Given the description of an element on the screen output the (x, y) to click on. 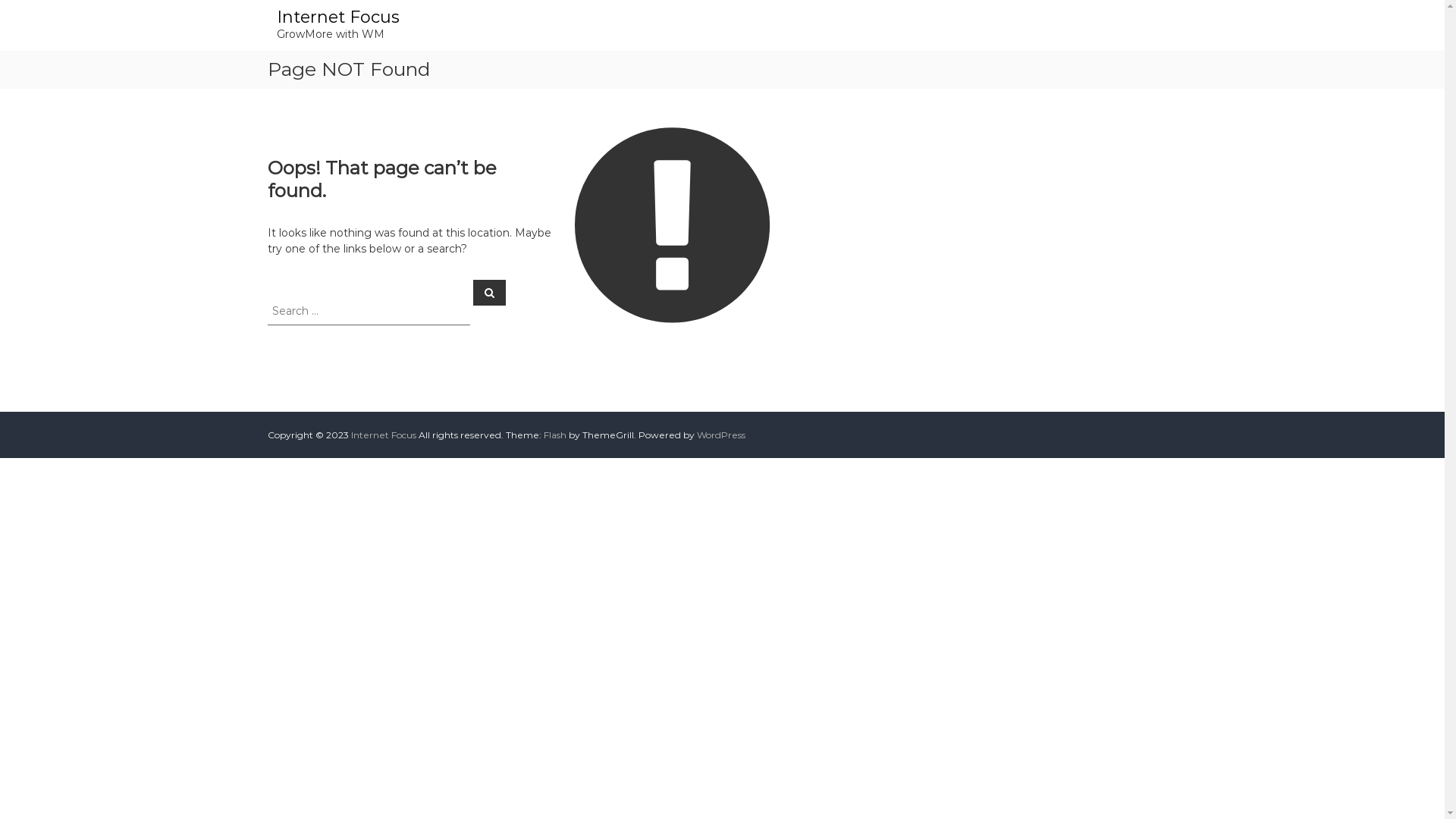
Internet Focus Element type: text (337, 16)
Internet Focus Element type: text (382, 434)
Flash Element type: text (553, 434)
WordPress Element type: text (720, 434)
Search Element type: text (489, 291)
